Given the description of an element on the screen output the (x, y) to click on. 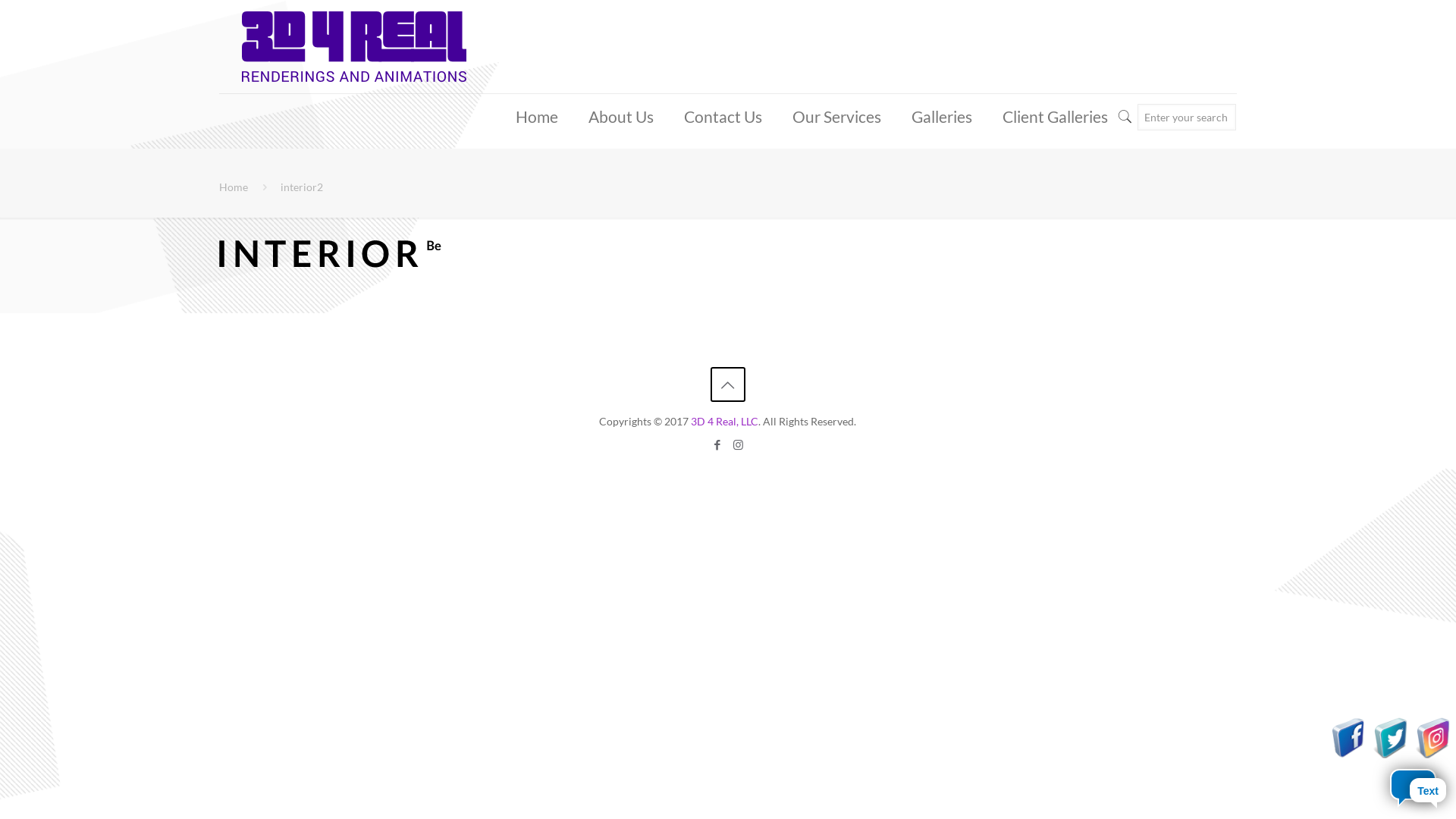
3D 4 Real, LLC Element type: text (724, 420)
Visit Us On Instagram Element type: hover (1433, 753)
Facebook Element type: hover (717, 444)
Instagram Element type: hover (738, 444)
Home Element type: text (233, 186)
Contact Us Element type: text (722, 116)
Visit Us On Twitter Element type: hover (1390, 753)
Home Element type: text (536, 116)
Visit Us On Facebook Element type: hover (1348, 753)
Our Services Element type: text (836, 116)
3D 4 Real Renderings Element type: hover (353, 46)
About Us Element type: text (620, 116)
Client Galleries Element type: text (1055, 116)
Galleries Element type: text (941, 116)
